Given the description of an element on the screen output the (x, y) to click on. 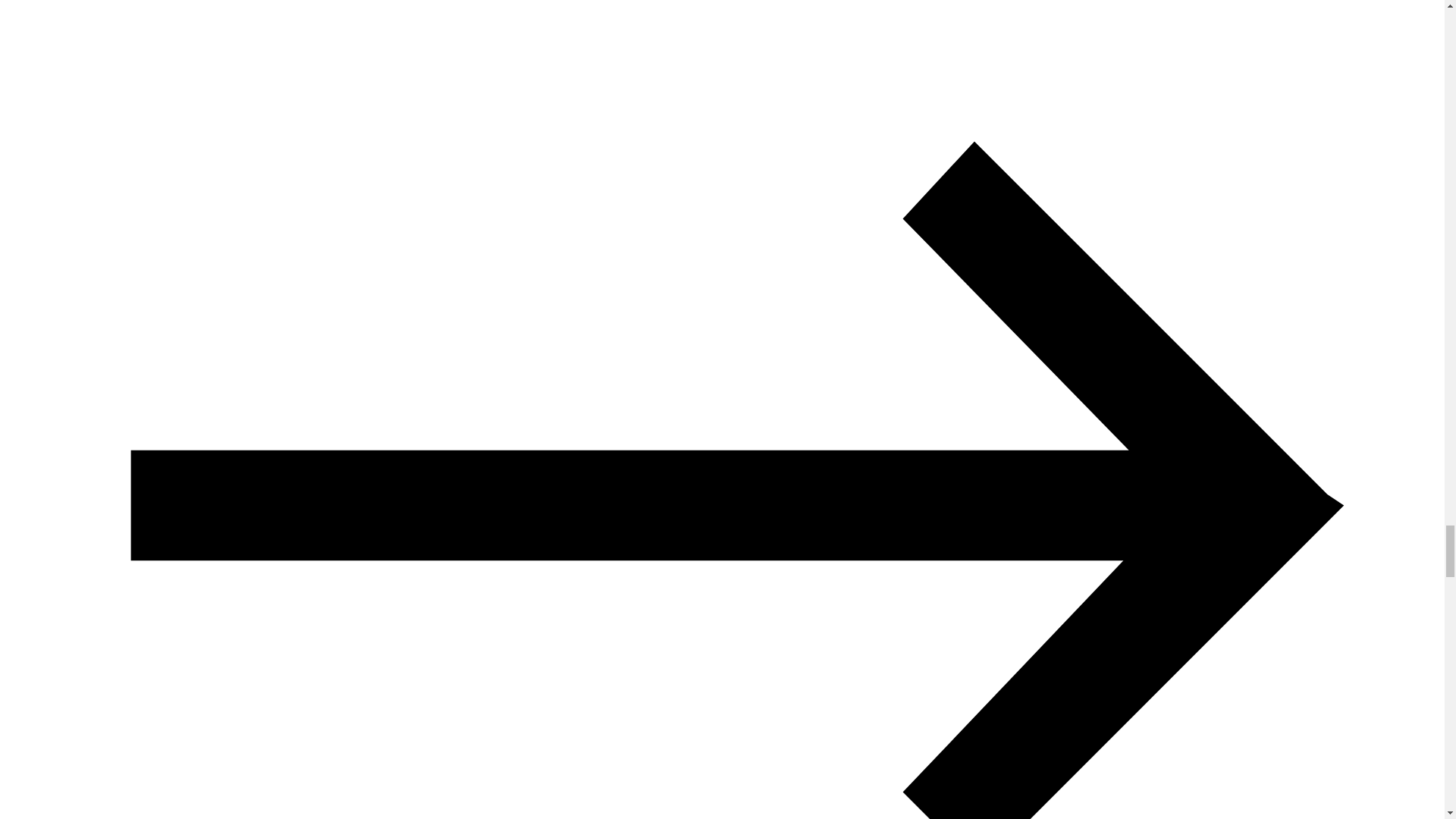
Find an orthopaedic centre nearby (390, 781)
start (53, 538)
Start (53, 538)
Orthoses all Solutions (572, 781)
Find orthopaedic centre nearby (390, 781)
